Given the description of an element on the screen output the (x, y) to click on. 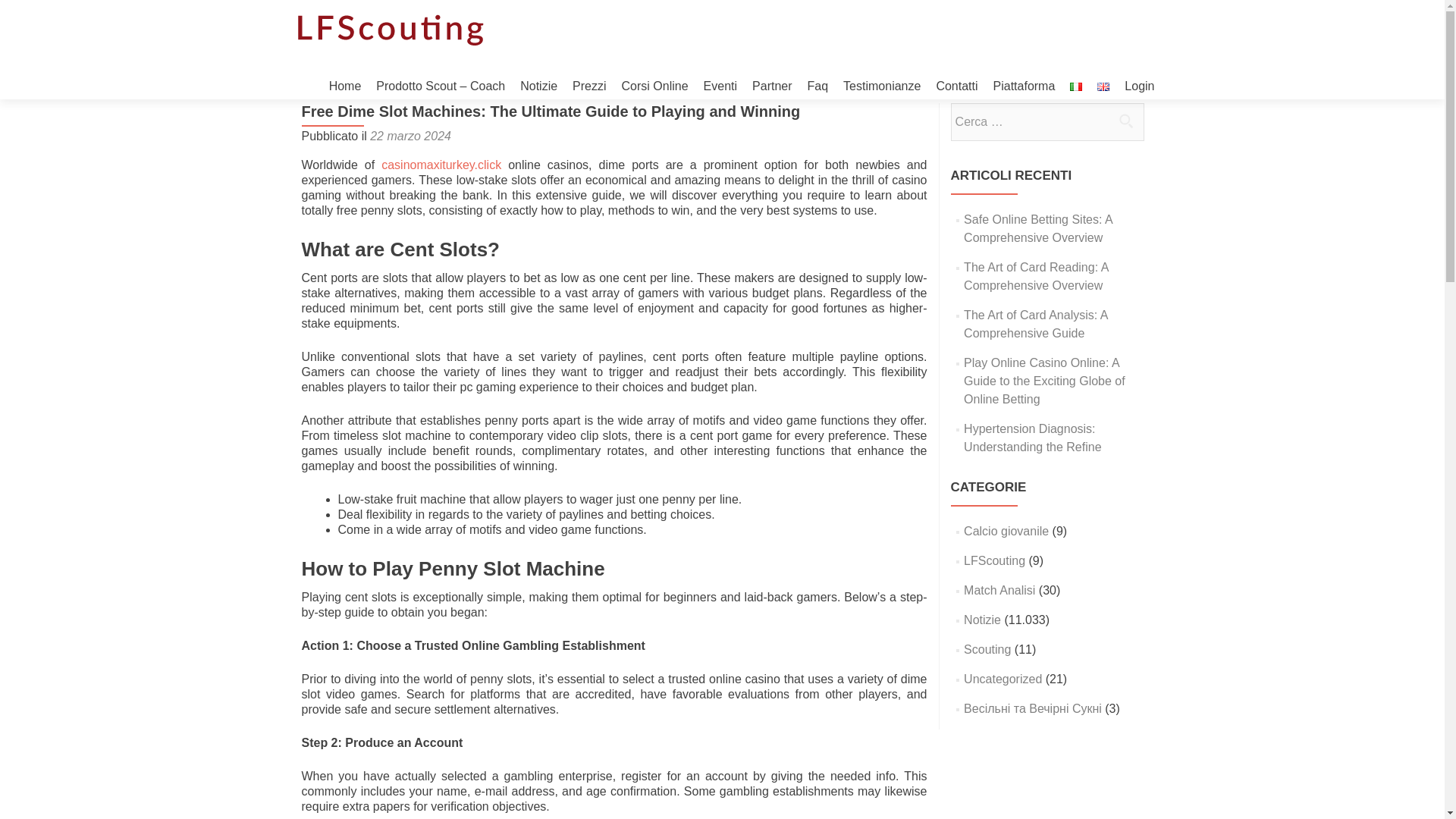
22 marzo 2024 (410, 135)
Home (345, 85)
Eventi (719, 85)
Cerca (1125, 120)
The Art of Card Reading: A Comprehensive Overview (1035, 276)
Testimonianze (881, 85)
Corsi Online (654, 85)
Cerca (1125, 120)
English (1103, 86)
Notizie (538, 85)
